Given the description of an element on the screen output the (x, y) to click on. 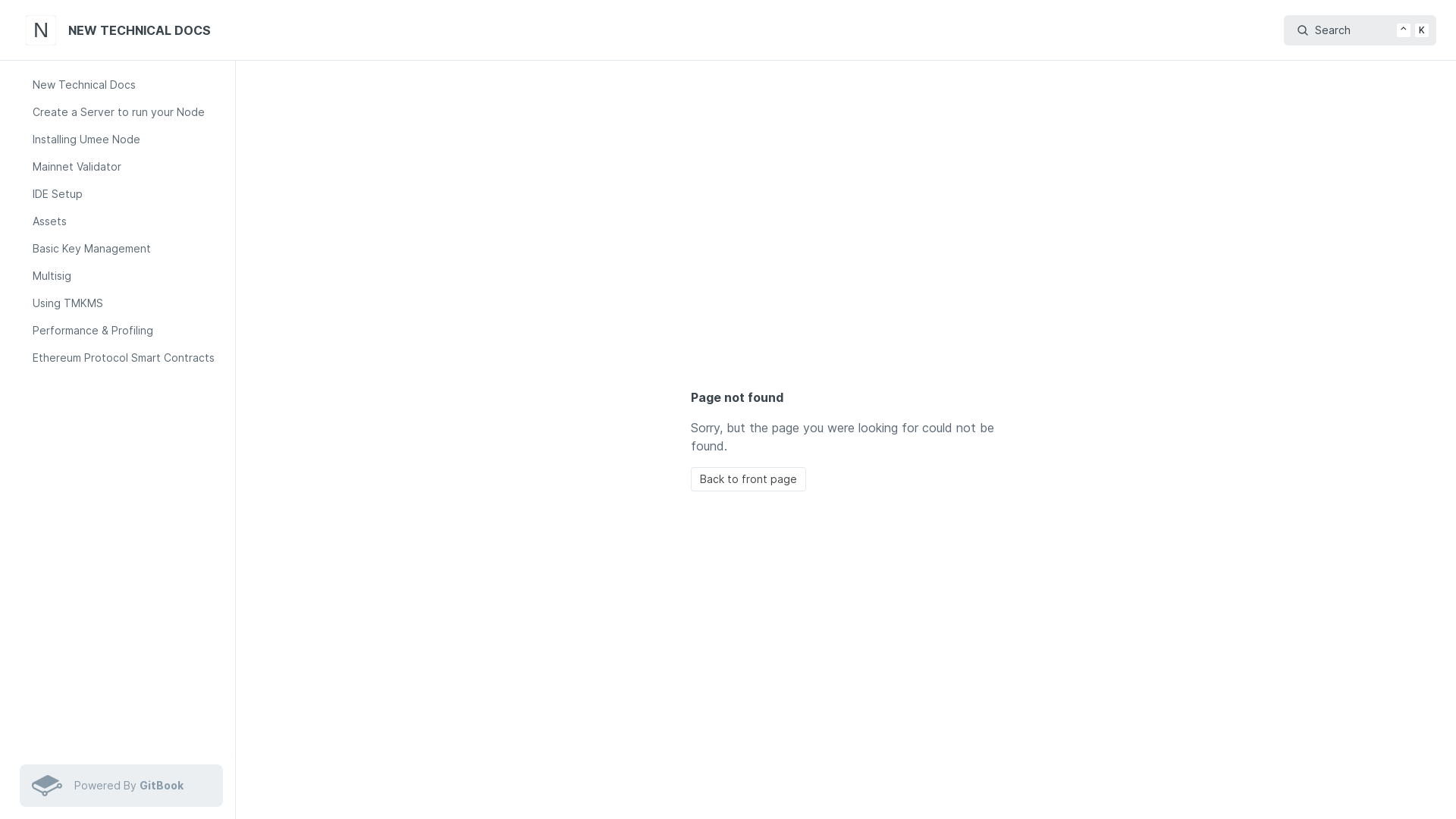
Multisig Element type: text (127, 275)
Ethereum Protocol Smart Contracts Element type: text (127, 357)
Performance & Profiling Element type: text (127, 330)
New Technical Docs Element type: text (127, 84)
Assets Element type: text (127, 221)
N
NEW TECHNICAL DOCS Element type: text (121, 30)
Mainnet Validator Element type: text (127, 166)
Basic Key Management Element type: text (127, 248)
Powered By GitBook Element type: text (120, 785)
Create a Server to run your Node Element type: text (127, 112)
IDE Setup Element type: text (127, 194)
Back to front page Element type: text (747, 479)
Installing Umee Node Element type: text (127, 139)
Using TMKMS Element type: text (127, 303)
